Given the description of an element on the screen output the (x, y) to click on. 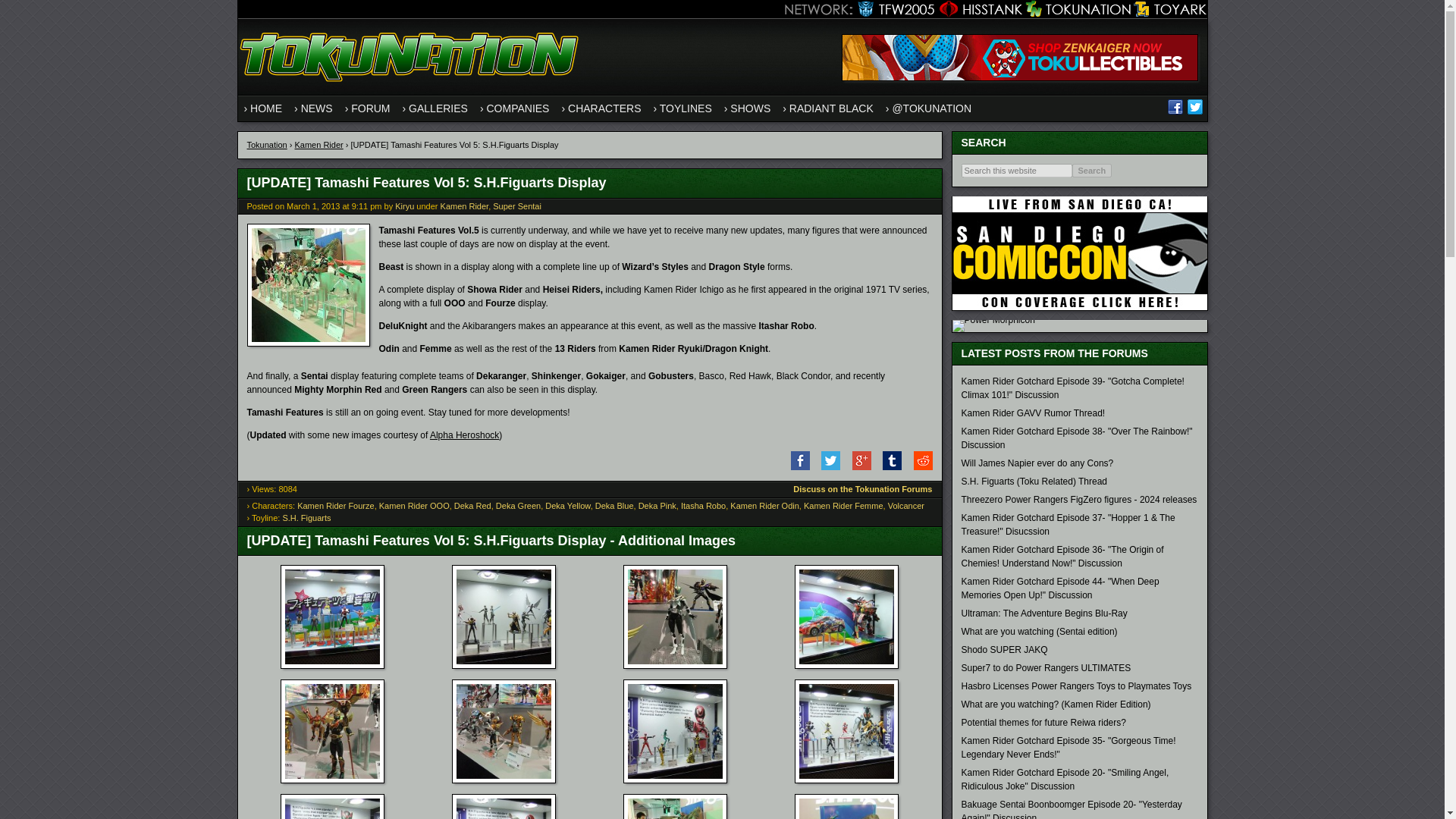
GALLERIES (435, 108)
Anime SHF 2.jpg (504, 665)
Visit TFW2005.com for Transformers (891, 9)
Akibaranger.jpg (332, 665)
Femme.jpg (674, 665)
Itashar Robo.jpg (846, 665)
Share with followers on Twitter (826, 466)
SHF Fourze.jpg (846, 779)
TOYLINES (681, 108)
Tokunation -  (410, 87)
Post to tumblr (887, 466)
Search (1091, 170)
Visit Toyark.com for Action Figures and Toys (1169, 9)
NEWS (313, 108)
reddit this! (917, 466)
